Given the description of an element on the screen output the (x, y) to click on. 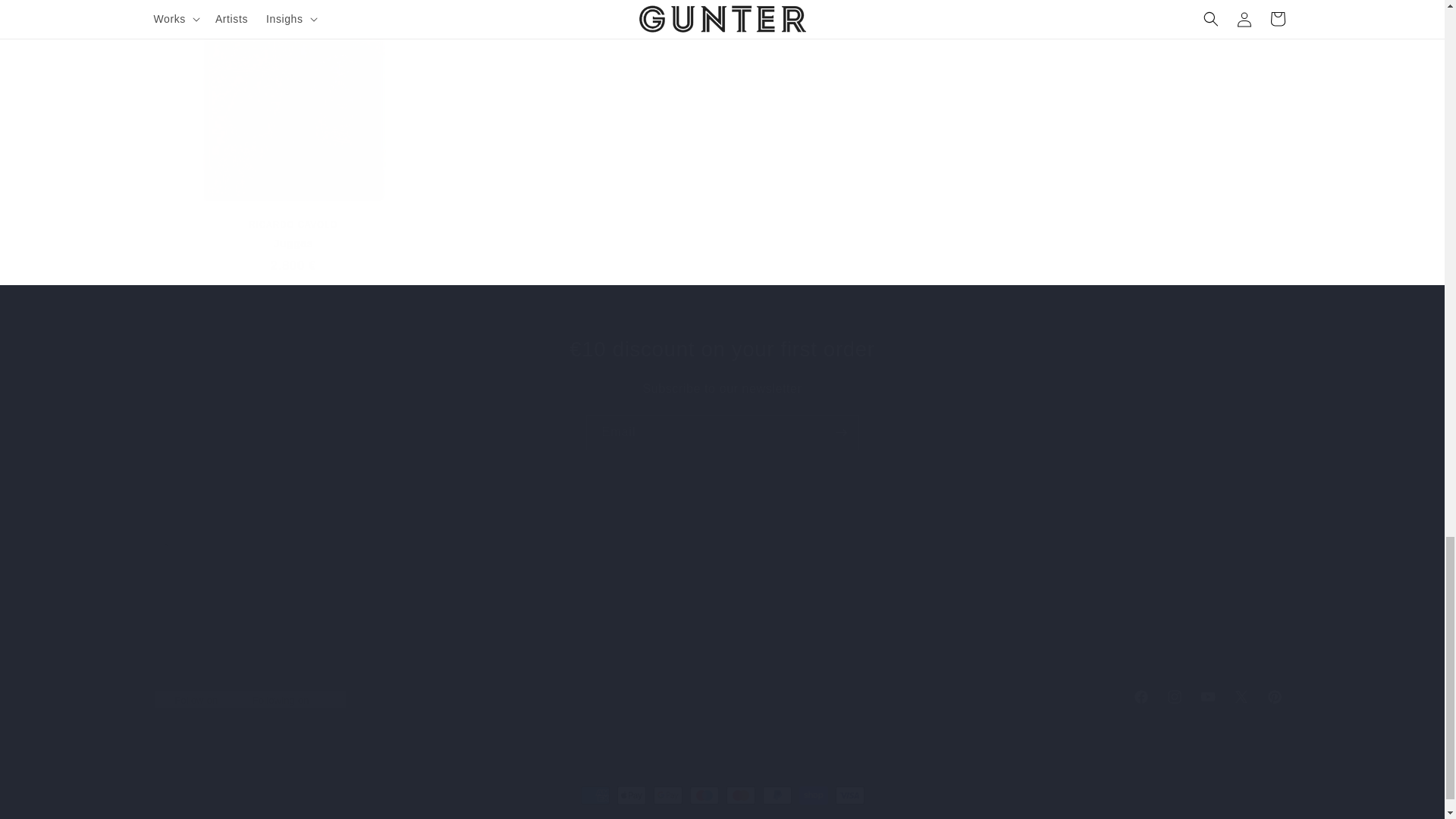
Email (722, 606)
Subscribe to our newsletter (722, 432)
